Given the description of an element on the screen output the (x, y) to click on. 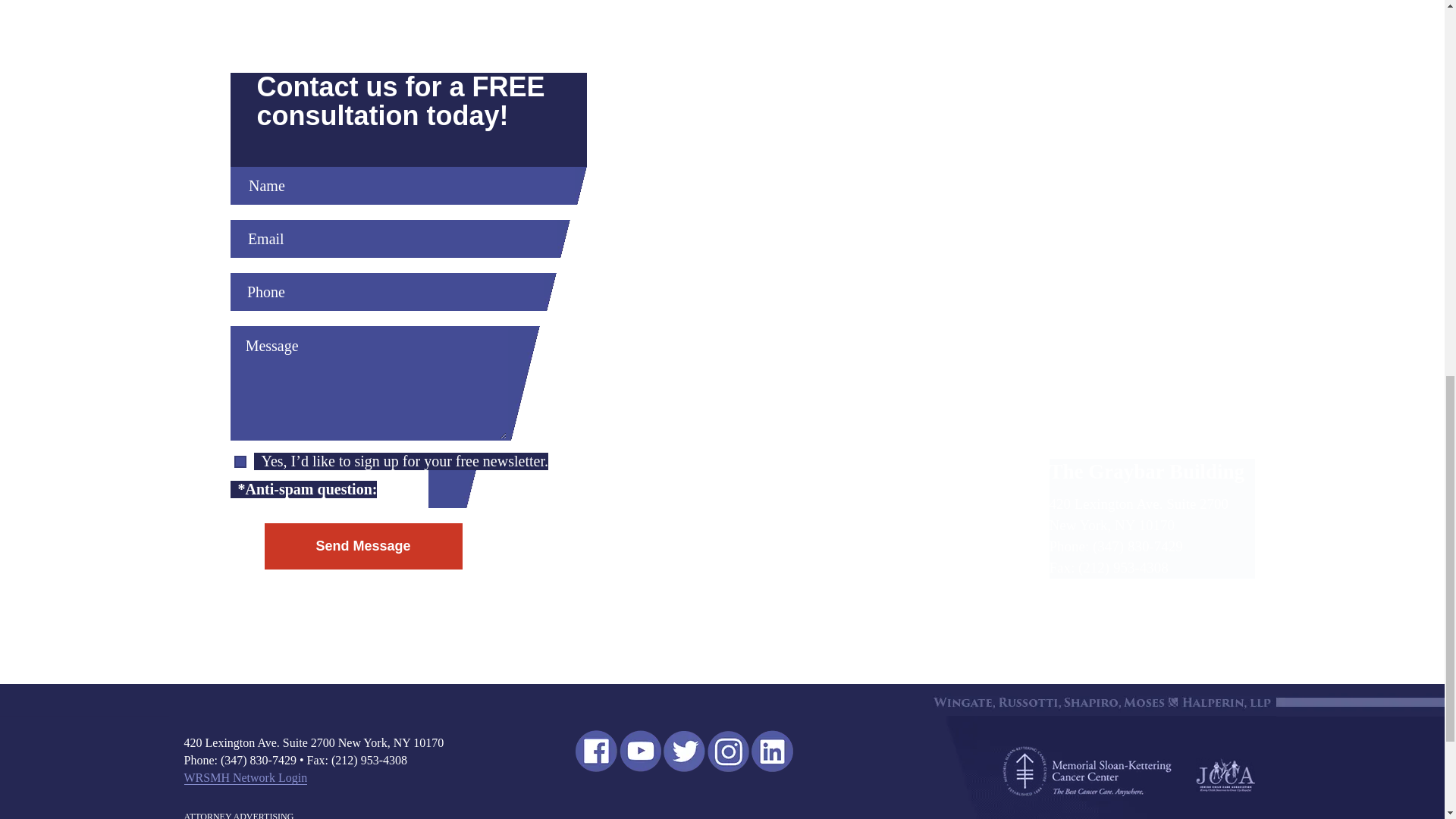
yes (239, 461)
Name (402, 185)
Phone (387, 291)
Send Message (362, 546)
Email (393, 238)
